Given the description of an element on the screen output the (x, y) to click on. 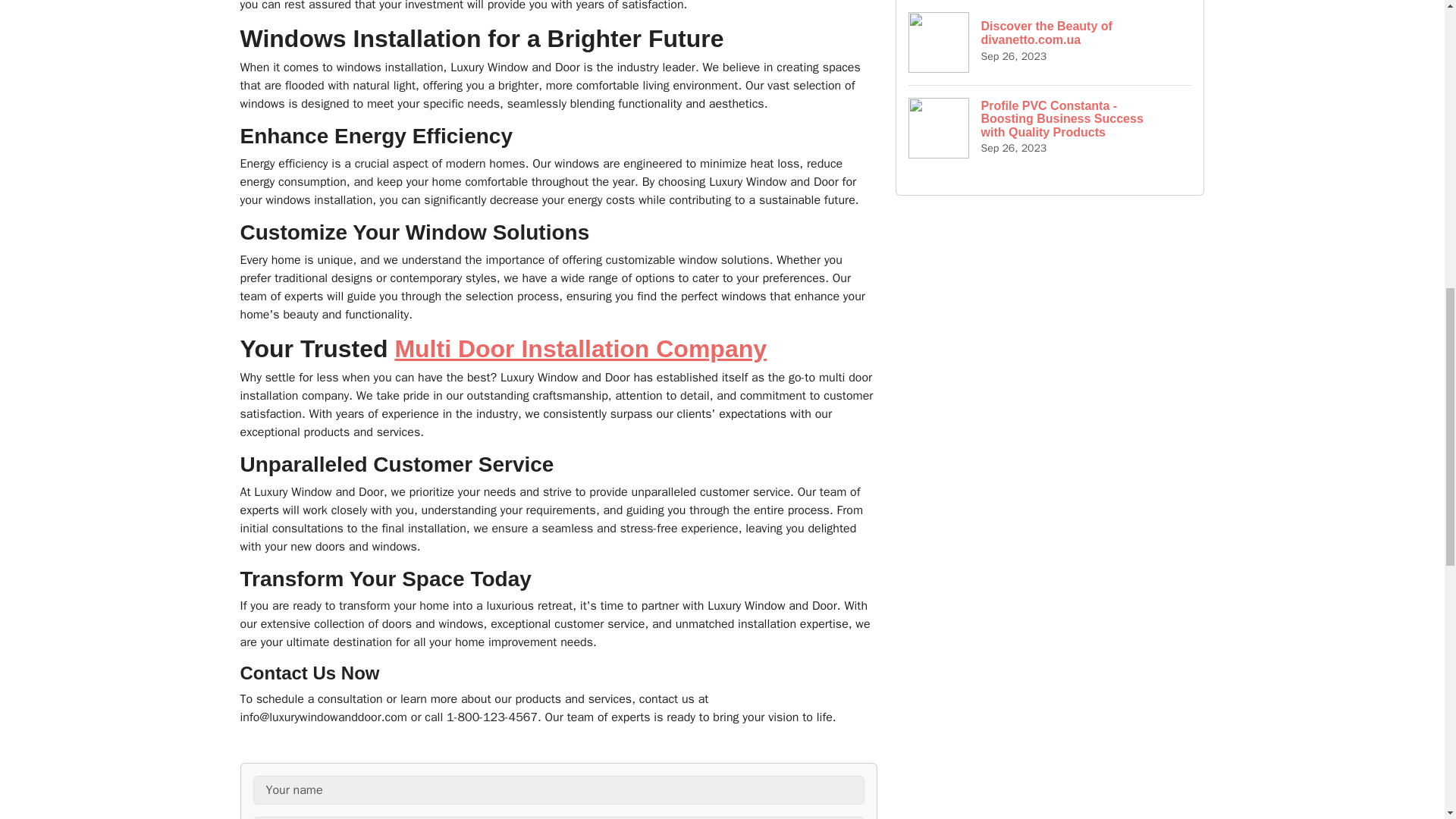
Multi Door Installation Company (580, 348)
